Given the description of an element on the screen output the (x, y) to click on. 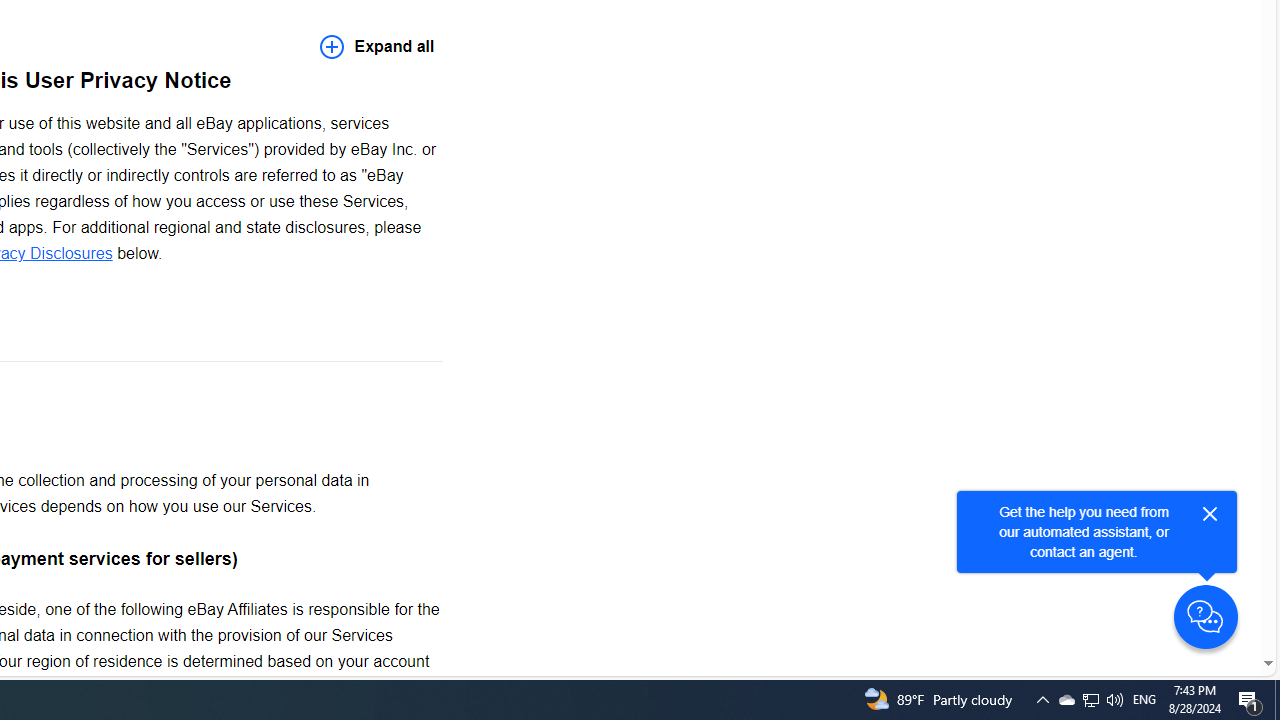
Expand all (377, 45)
